Given the description of an element on the screen output the (x, y) to click on. 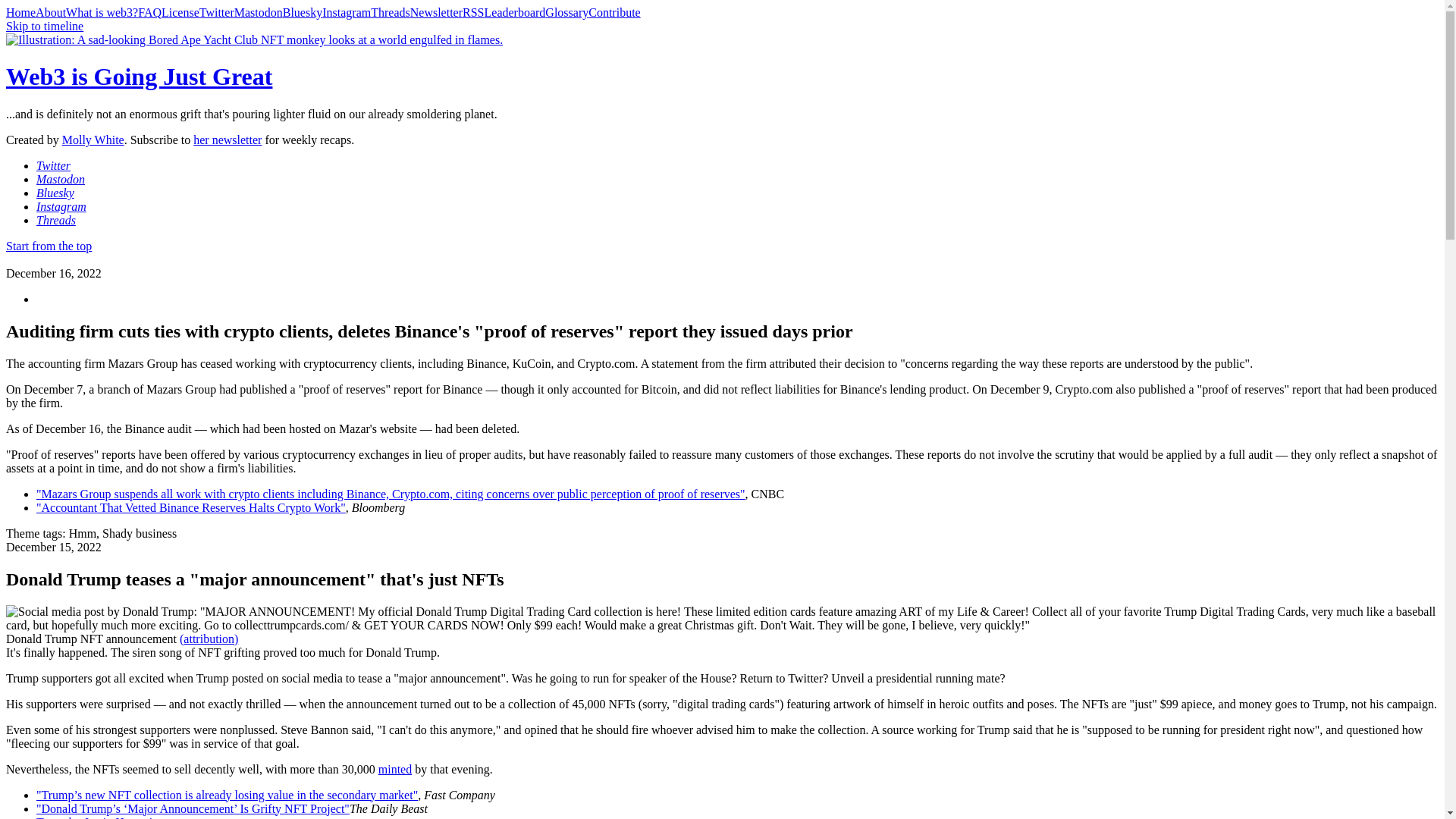
minted (395, 768)
her newsletter (227, 139)
Bluesky (55, 192)
Instagram (60, 205)
About (49, 11)
Threads (55, 219)
Skip to timeline (43, 25)
Contribute (614, 11)
Newsletter (436, 11)
Web3 is Going Just Great (138, 76)
Molly White (92, 139)
Threads (390, 11)
License (180, 11)
